Given the description of an element on the screen output the (x, y) to click on. 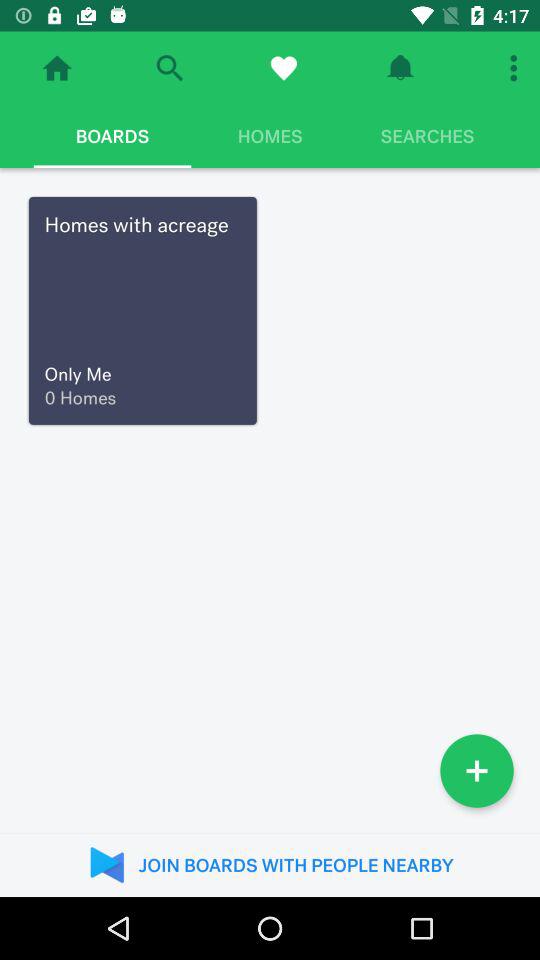
tap icon at the bottom right corner (477, 770)
